Given the description of an element on the screen output the (x, y) to click on. 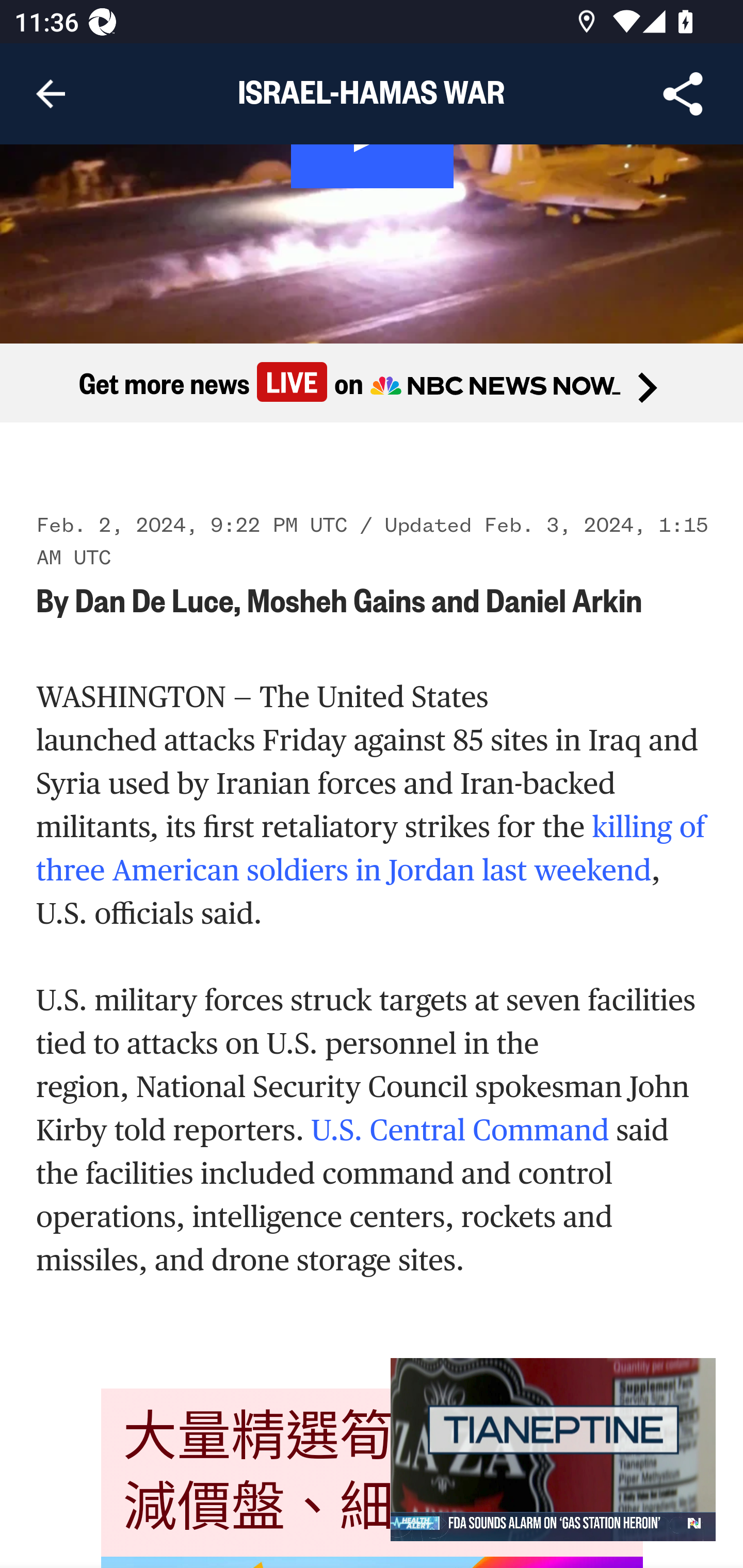
Navigate up (50, 93)
Share Article, button (683, 94)
Get more news Live on Get more news Live on (371, 383)
killing of three American soldiers (370, 849)
U.S. Central Command  (463, 1131)
